Given the description of an element on the screen output the (x, y) to click on. 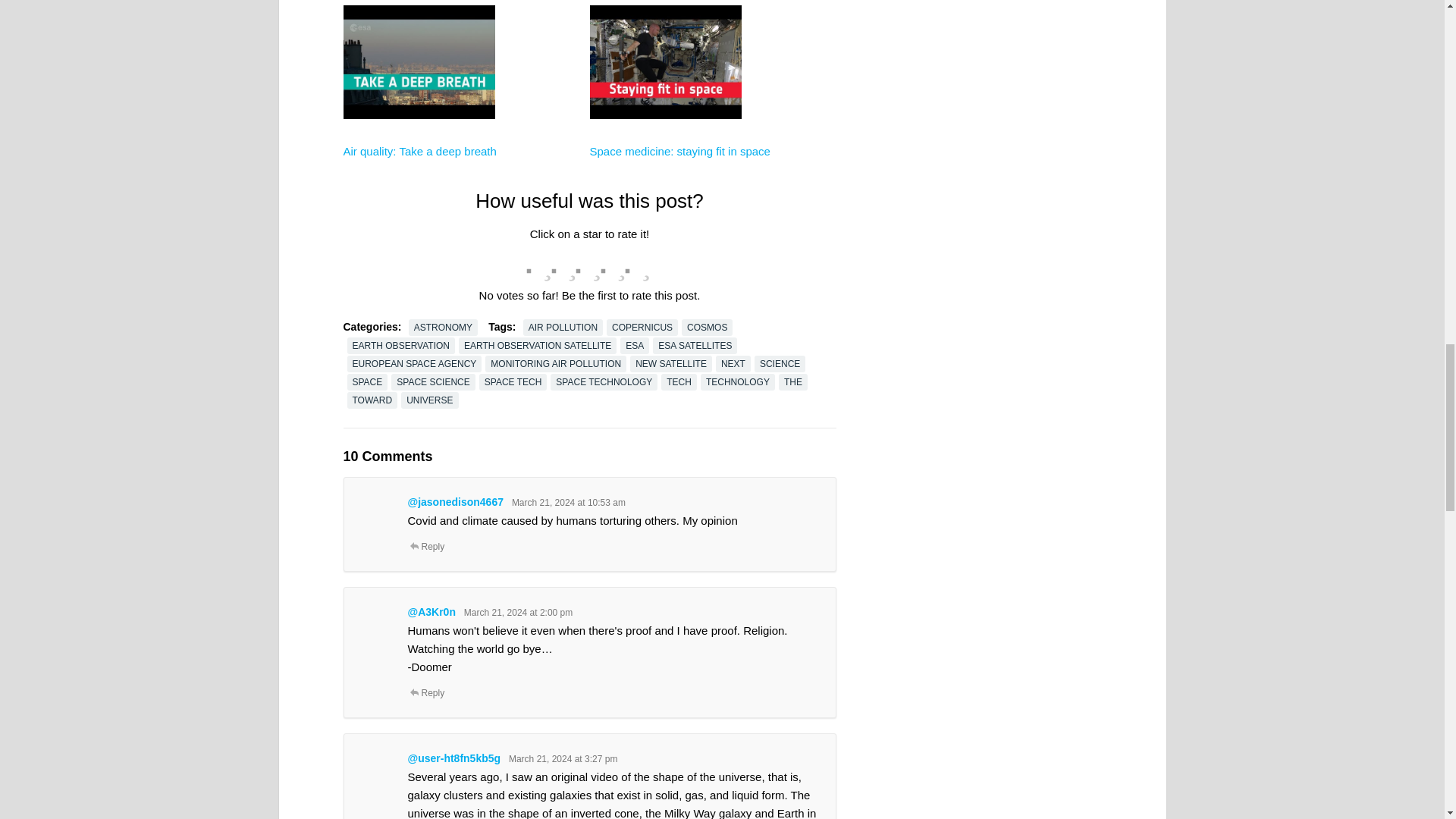
Air quality: Take a deep breath (419, 151)
Coronavirus: (418, 20)
Space (665, 20)
Space (665, 174)
Air (418, 174)
Space medicine: staying fit in space (679, 151)
Space medicine: staying fit in space (679, 151)
Air quality: Take a deep breath (419, 151)
